Given the description of an element on the screen output the (x, y) to click on. 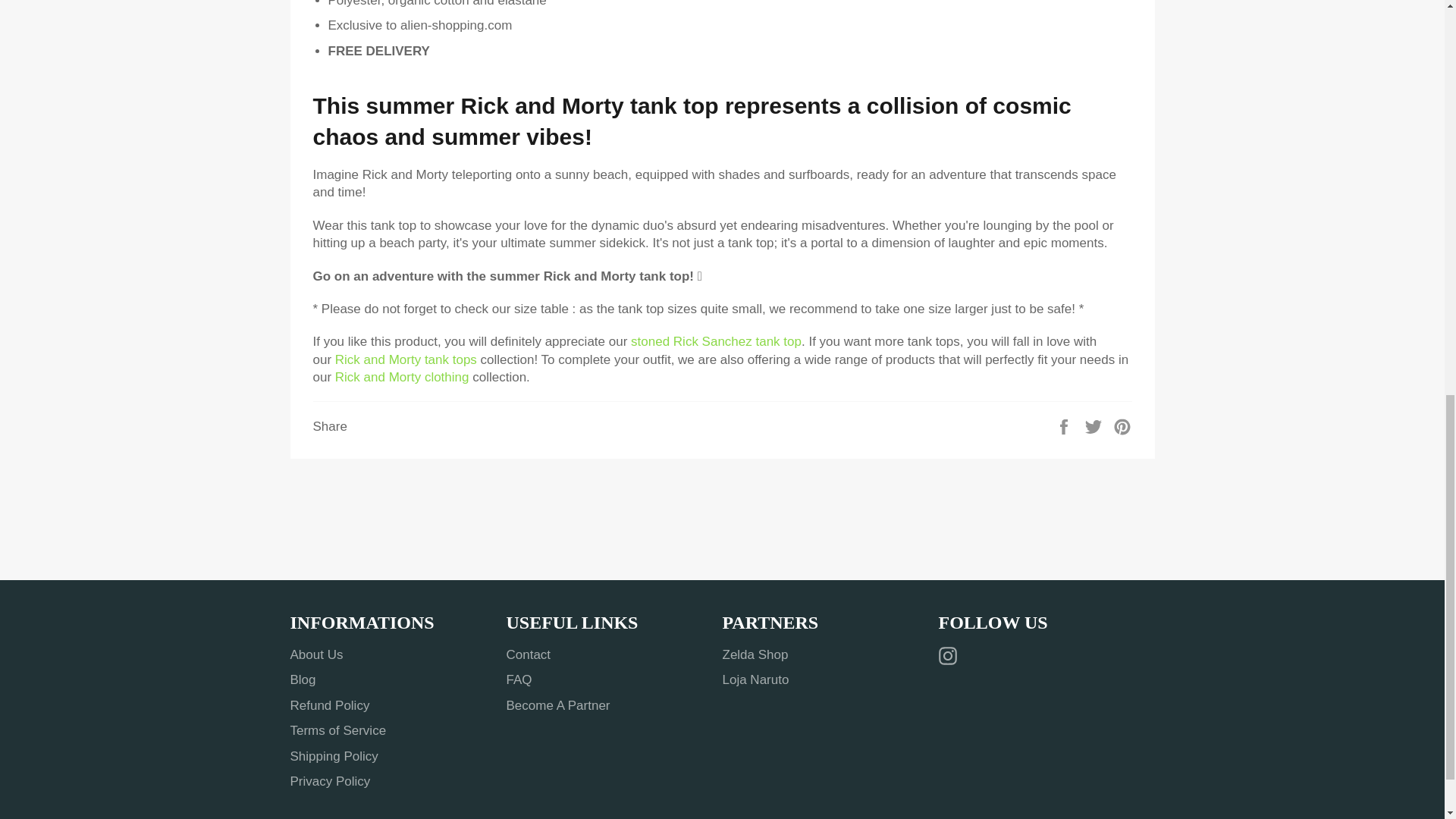
Contact (528, 654)
Refund Policy (329, 705)
Stoned Rick Sanchez Tank Top (716, 341)
Shipping Policy (333, 756)
stoned Rick Sanchez tank top (716, 341)
Alien Shopping on Instagram (951, 655)
Pin on Pinterest (1122, 425)
About Us (315, 654)
Share on Facebook (1065, 425)
Instagram (951, 655)
Privacy Policy (329, 780)
FAQ (519, 679)
Rick and Morty tank tops (405, 359)
Pin on Pinterest (1122, 425)
Tweet on Twitter (1095, 425)
